Given the description of an element on the screen output the (x, y) to click on. 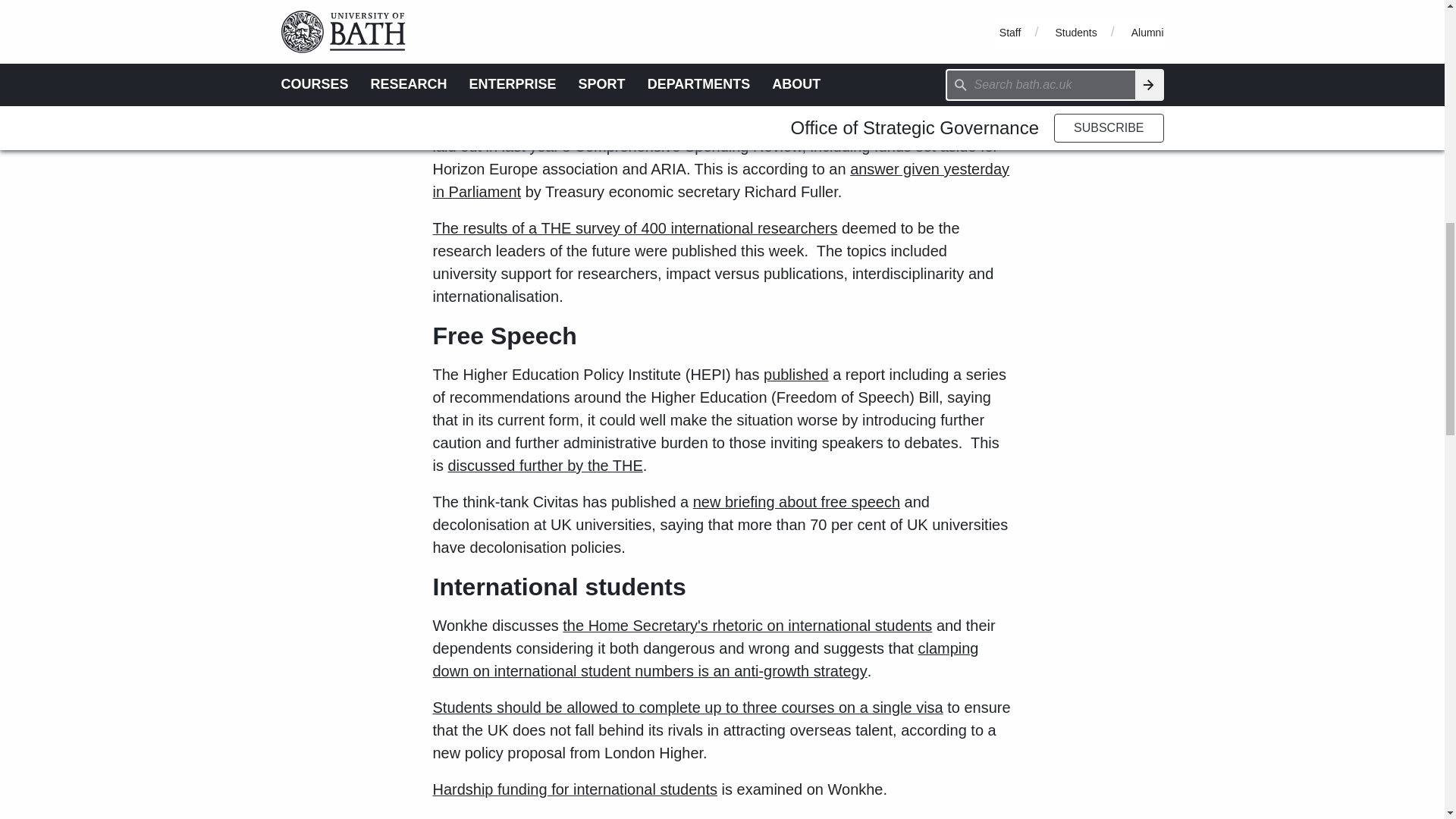
published (795, 374)
answer given yesterday in Parliament (720, 179)
the Home Secretary's rhetoric on international students (746, 625)
on the politics of hitting the target (702, 75)
this accidental meeting of the target is explored by Wonkhe (696, 52)
The results of a THE survey of 400 international researchers (634, 228)
Hardship funding for international students (574, 789)
discussed further by the THE (544, 465)
